Given the description of an element on the screen output the (x, y) to click on. 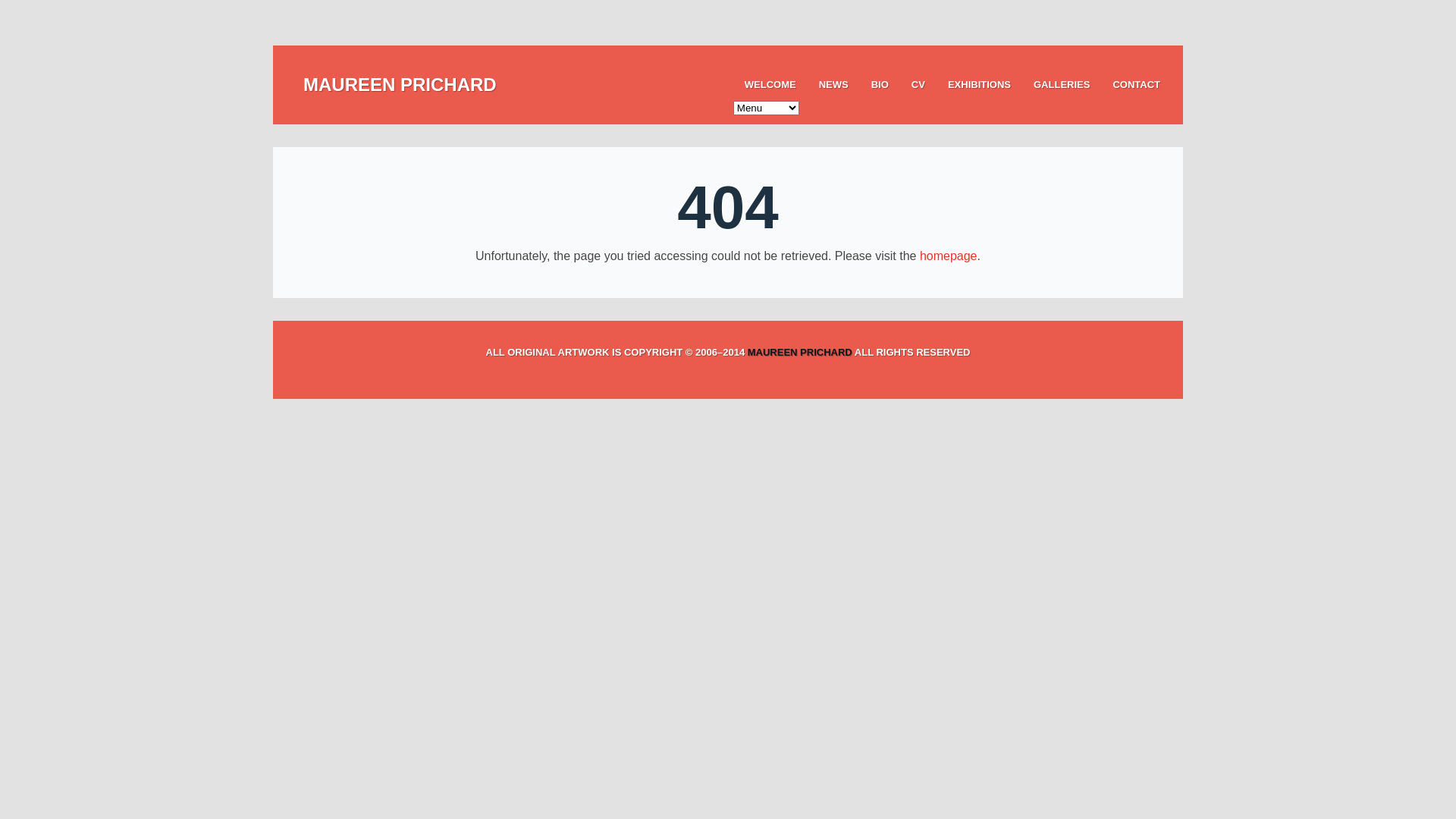
MAUREEN PRICHARD Element type: text (400, 84)
WELCOME Element type: text (770, 84)
NEWS Element type: text (833, 84)
EXHIBITIONS Element type: text (979, 84)
BIO Element type: text (879, 84)
homepage Element type: text (948, 255)
MAUREEN PRICHARD Element type: text (799, 351)
CONTACT Element type: text (1136, 84)
GALLERIES Element type: text (1061, 84)
CV Element type: text (918, 84)
